Given the description of an element on the screen output the (x, y) to click on. 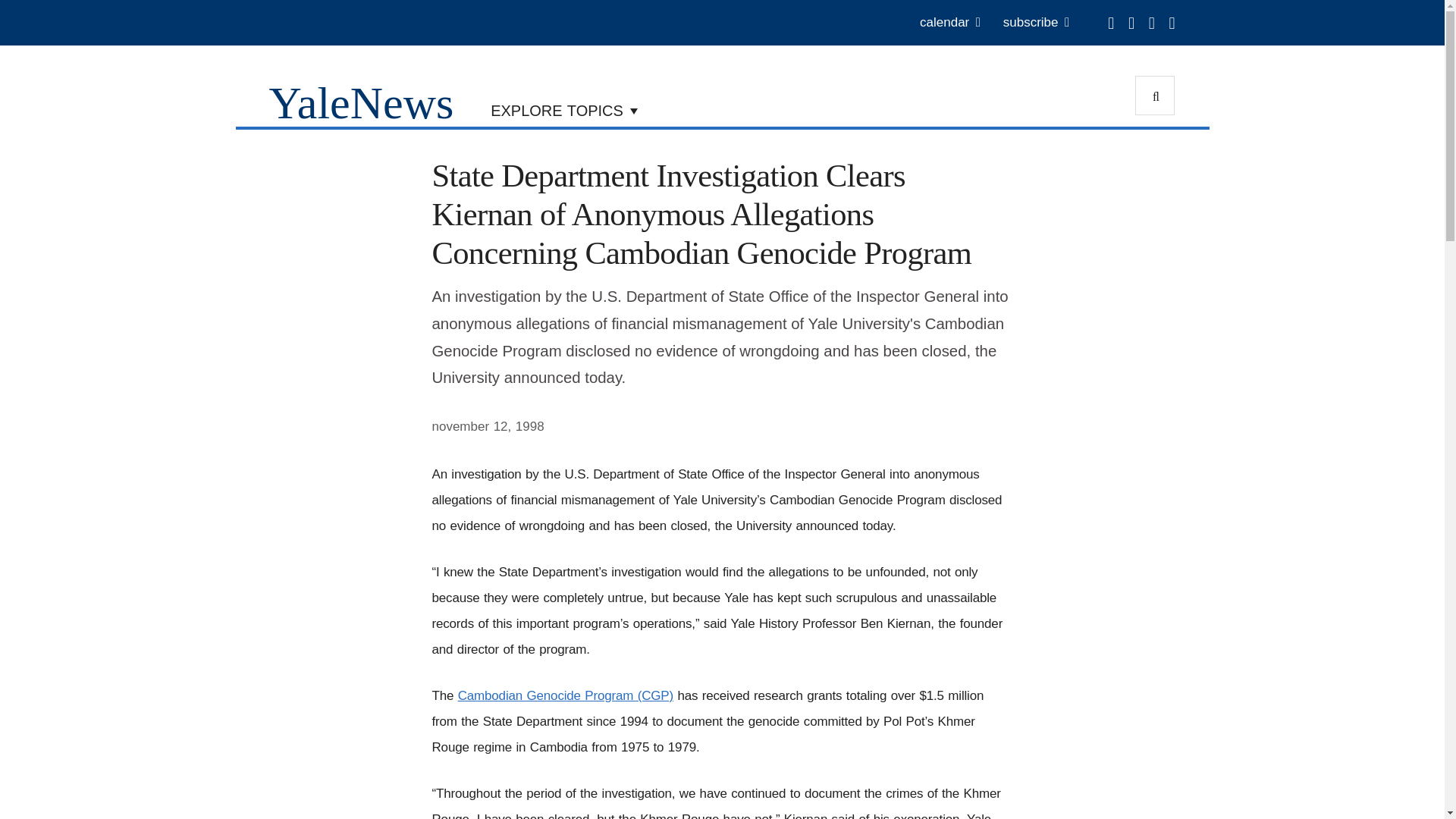
subscribe (1035, 22)
Apply (1154, 95)
calendar (949, 22)
EXPLORE TOPICS (563, 109)
YaleNews (359, 102)
Home (359, 102)
Skip to main content (586, 4)
